Given the description of an element on the screen output the (x, y) to click on. 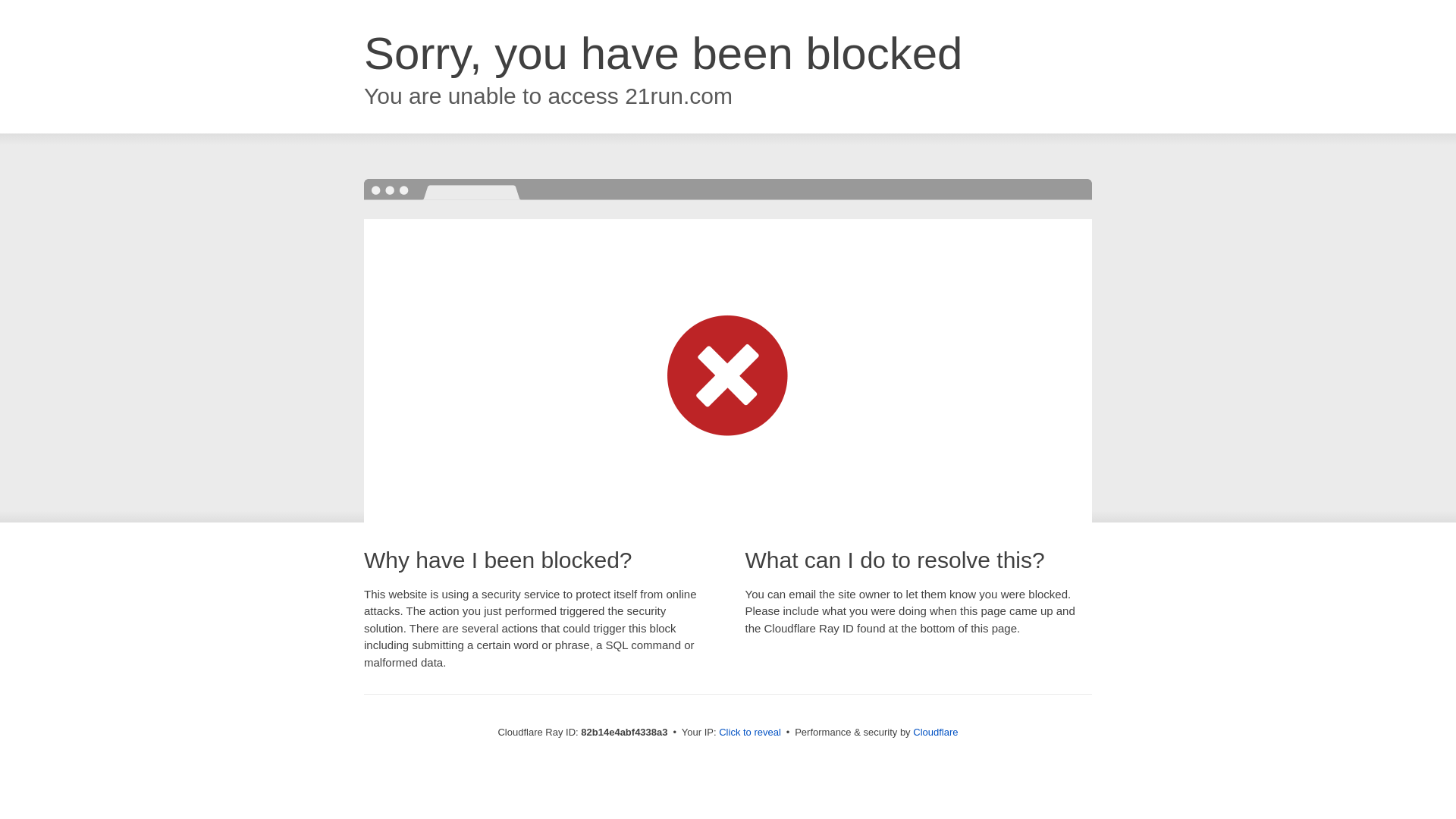
Cloudflare Element type: text (935, 731)
Click to reveal Element type: text (749, 732)
